Given the description of an element on the screen output the (x, y) to click on. 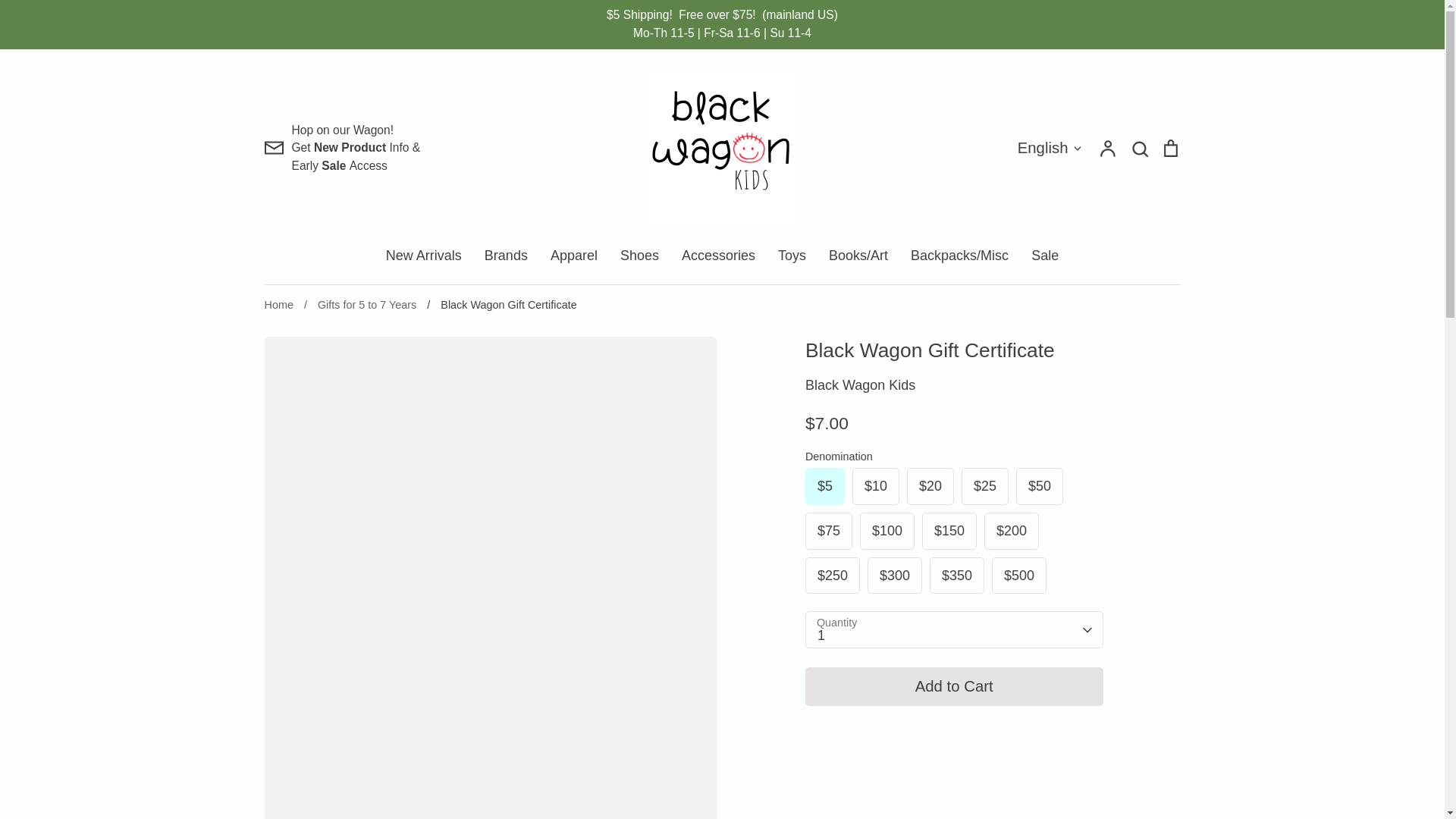
Brands (505, 255)
Cart (1169, 147)
Account (1107, 147)
Search (1139, 147)
English (1050, 147)
New Arrivals (423, 255)
